Given the description of an element on the screen output the (x, y) to click on. 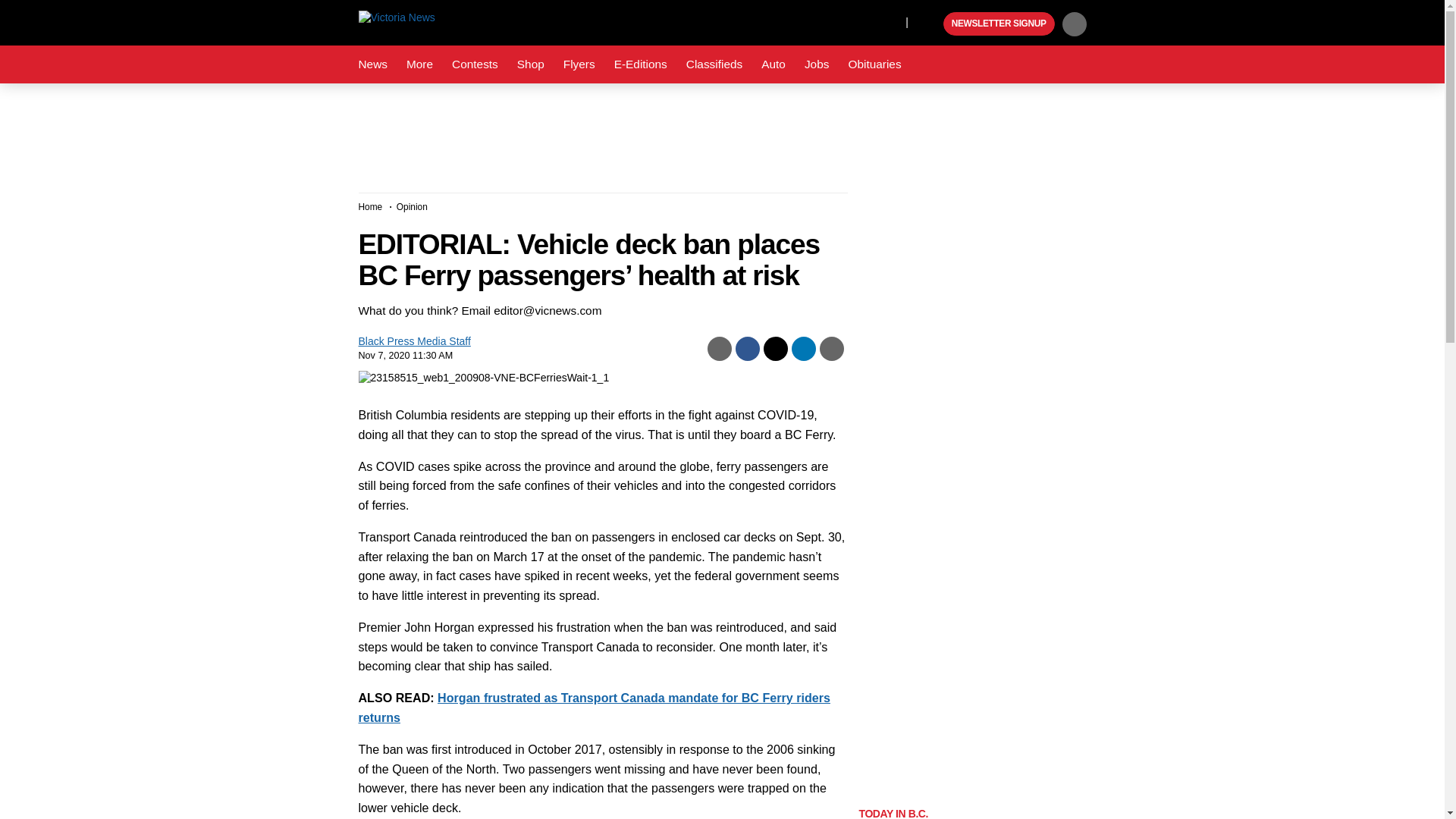
X (889, 21)
Black Press Media (929, 24)
NEWSLETTER SIGNUP (998, 24)
News (372, 64)
Play (929, 24)
